Given the description of an element on the screen output the (x, y) to click on. 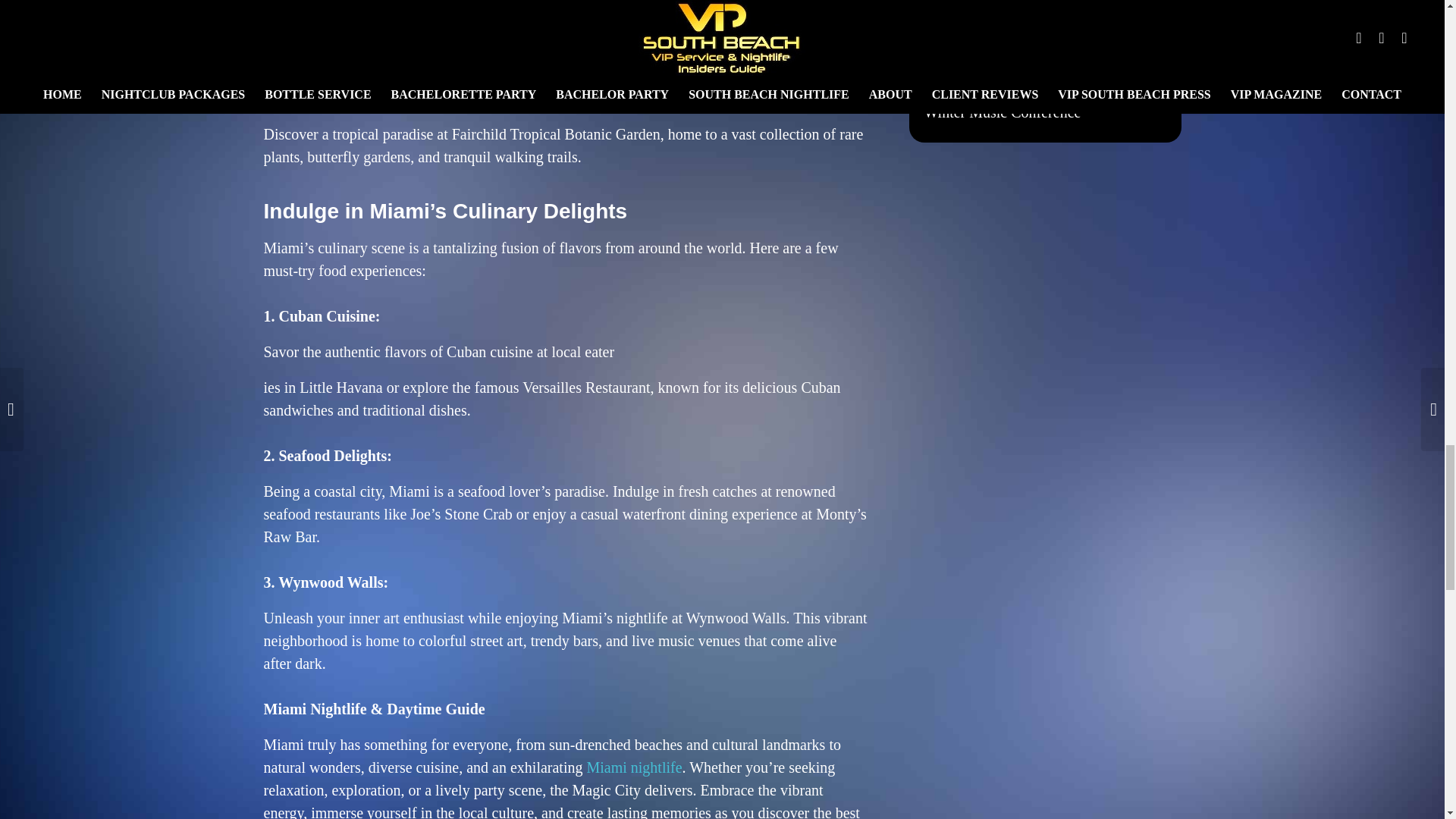
Miami nightlife (633, 767)
